Given the description of an element on the screen output the (x, y) to click on. 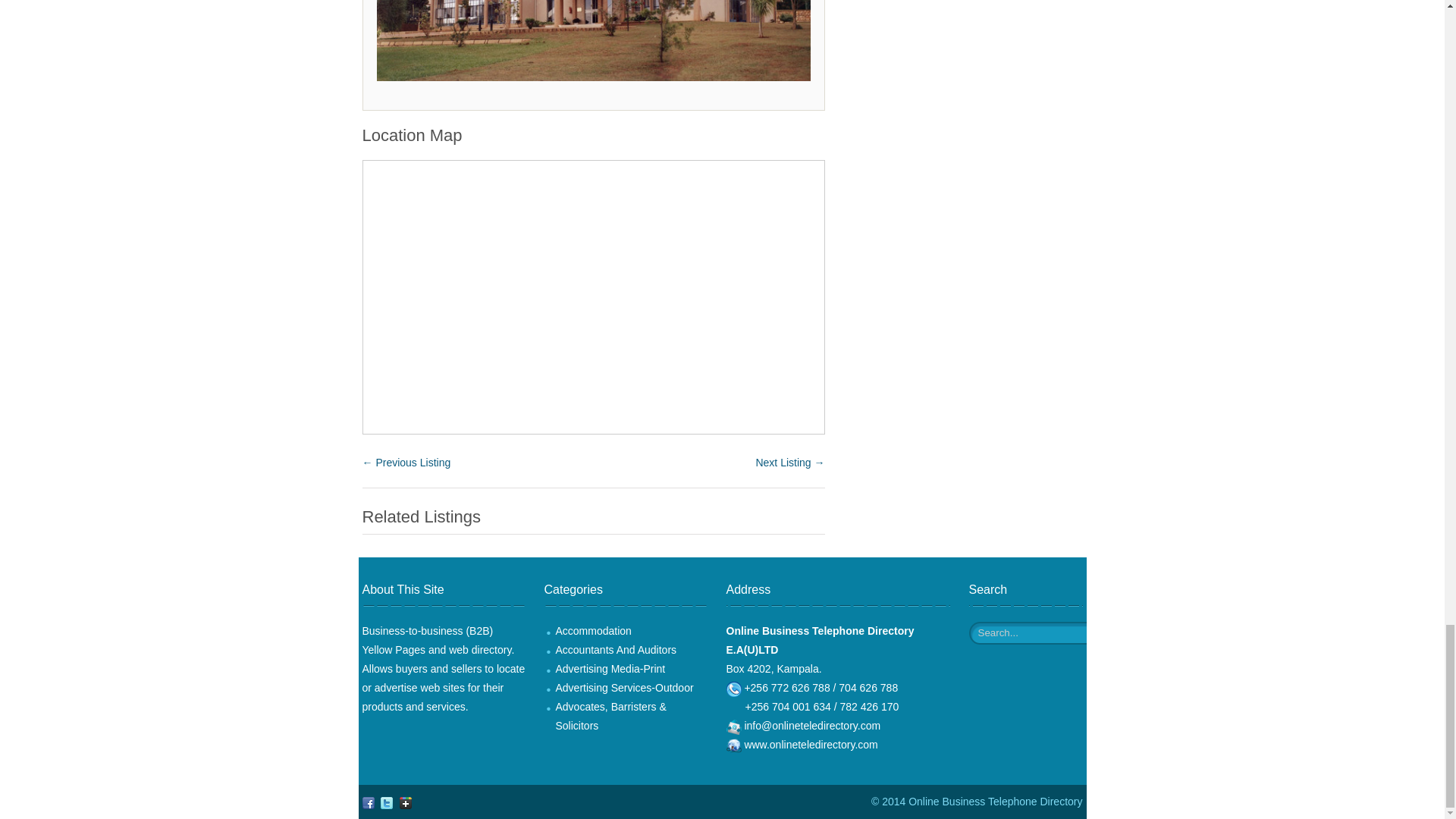
Search... (1042, 632)
